Given the description of an element on the screen output the (x, y) to click on. 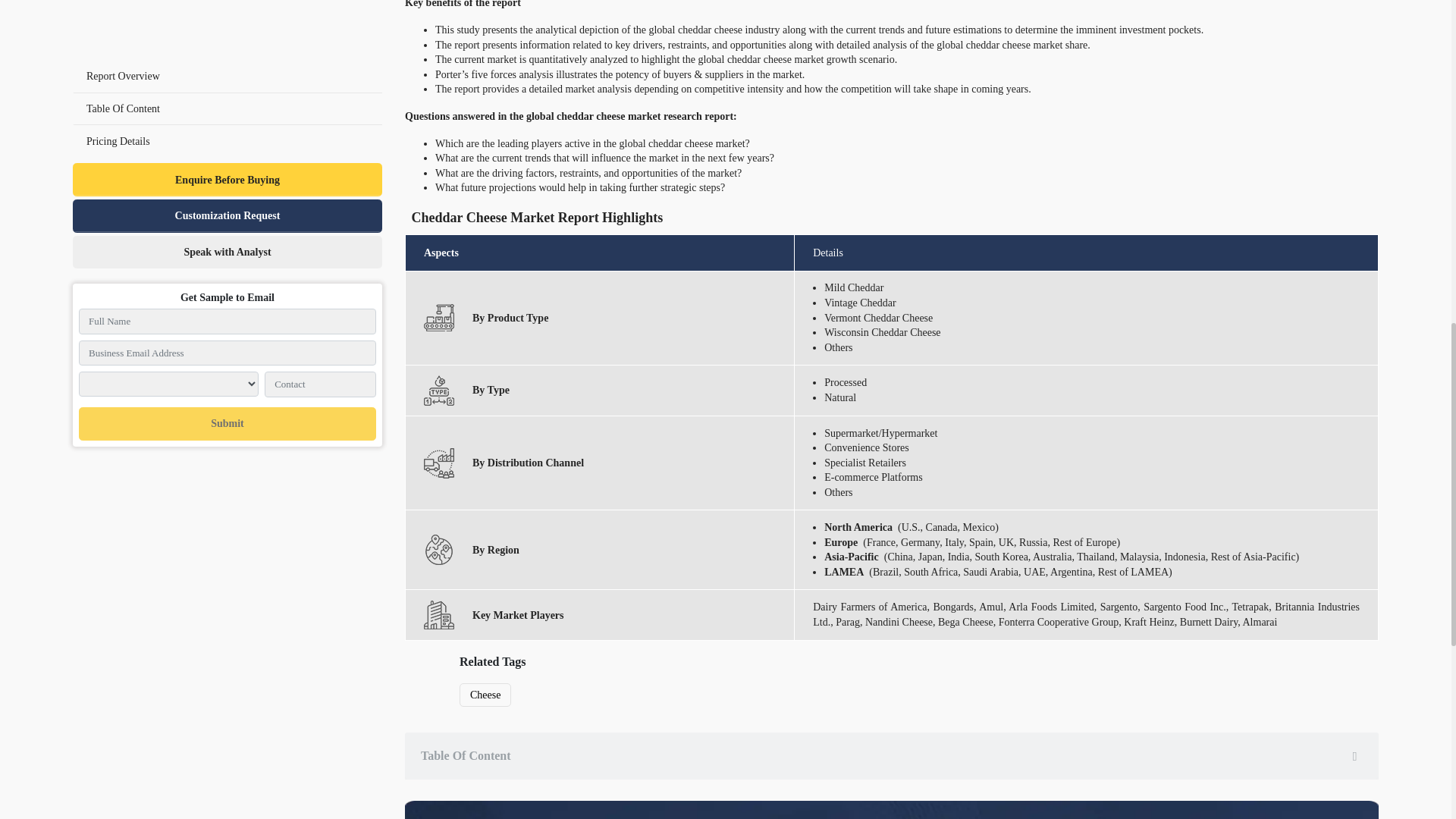
Cheddar Cheese Market By Product Type (438, 317)
Cheddar Cheese Market By Region (438, 549)
Table Of Content (891, 756)
Cheddar Cheese Market By Type (438, 390)
Cheddar Cheese Market By Distribution Channel (438, 462)
Cheese (485, 694)
Key Market Players (438, 614)
